Given the description of an element on the screen output the (x, y) to click on. 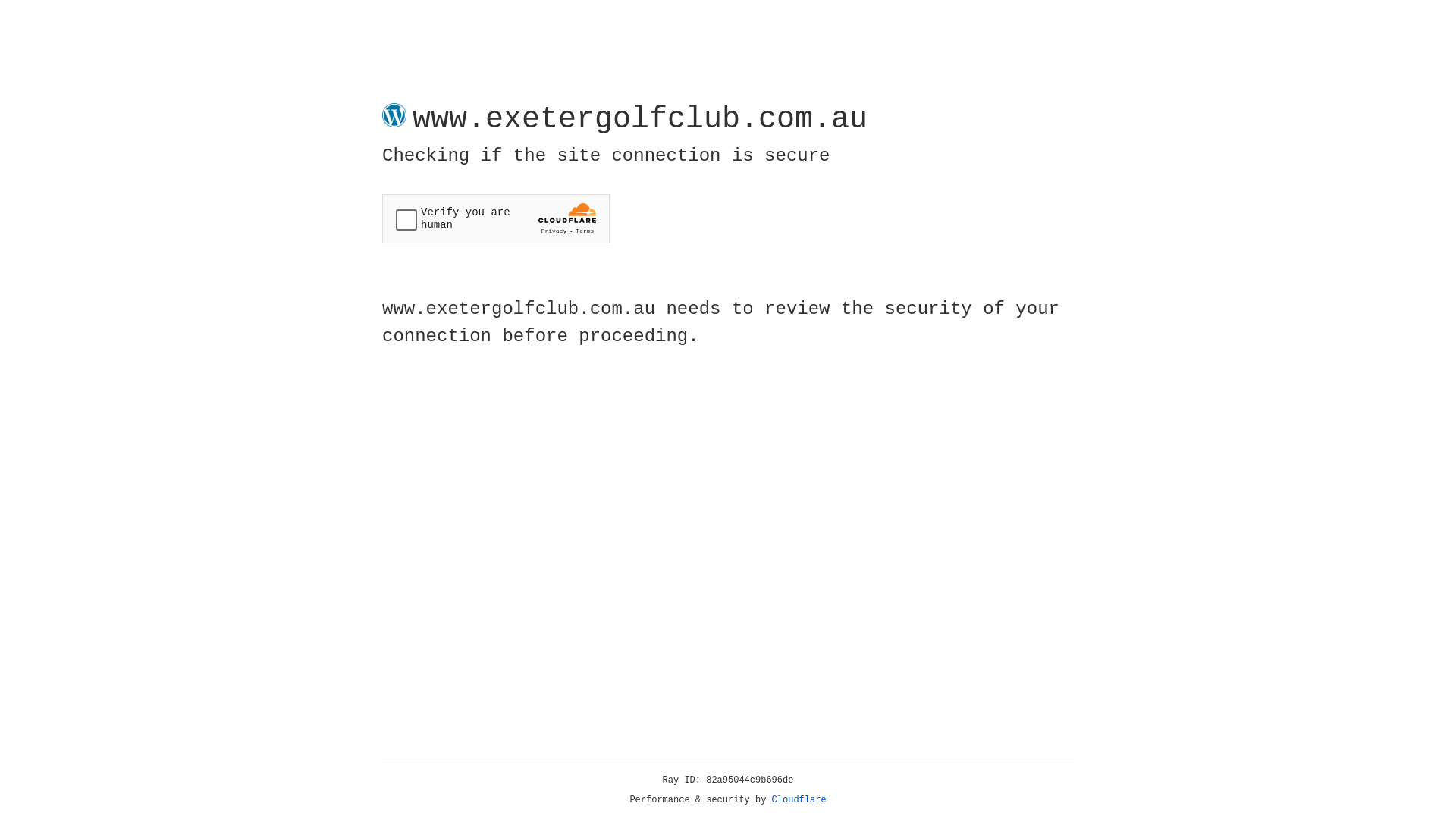
Widget containing a Cloudflare security challenge Element type: hover (495, 218)
Cloudflare Element type: text (798, 799)
